Given the description of an element on the screen output the (x, y) to click on. 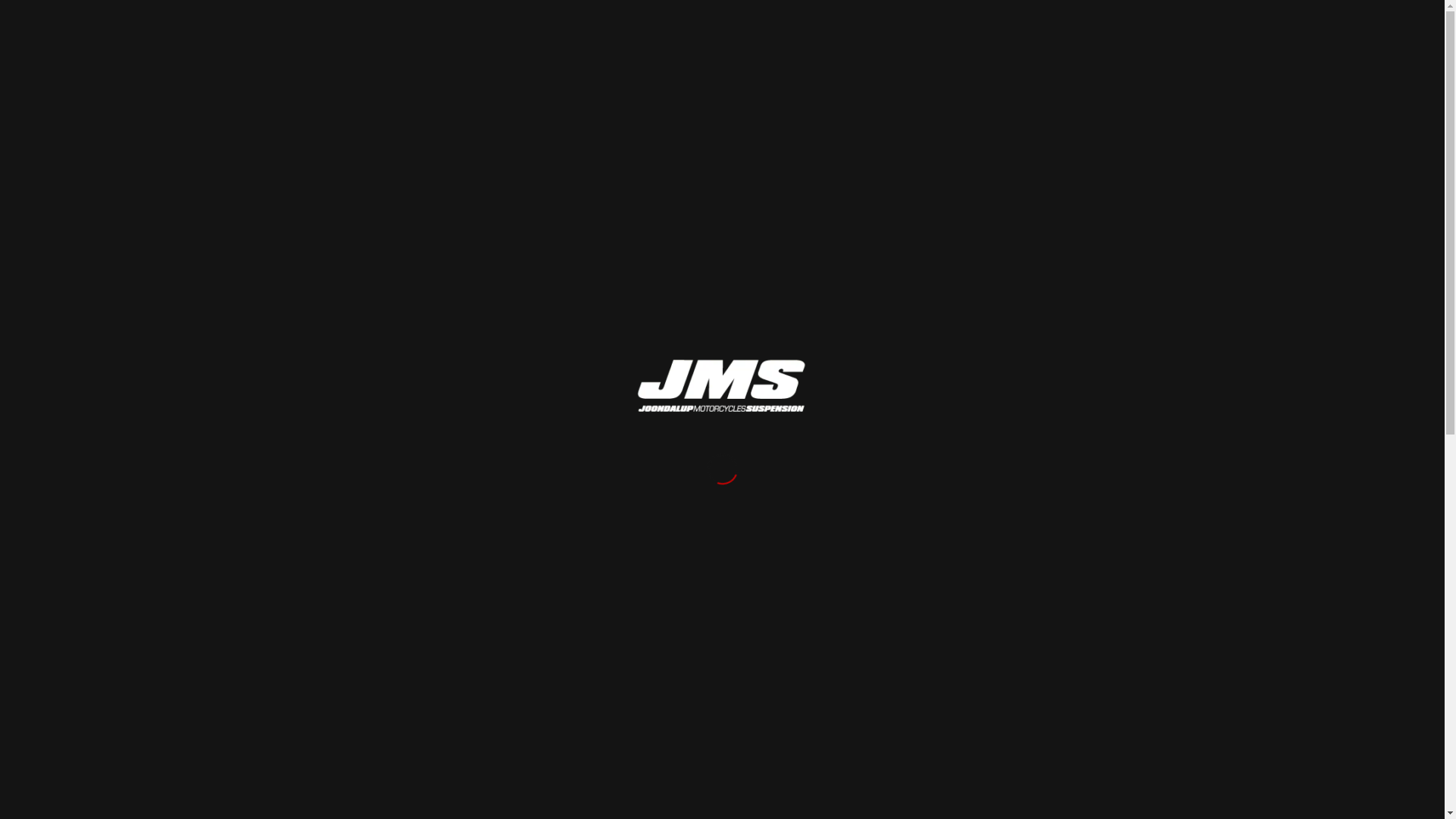
The Proteges United Element type: text (1050, 158)
Read: The Proteges United Element type: hover (985, 166)
Instagram Element type: hover (1169, 43)
HOME Element type: text (746, 44)
CONTACT Element type: text (1089, 44)
Read: MX or Enduro: Finding the Ultimate Setup Element type: hover (985, 205)
New customer contact hours ! Element type: hover (1005, 537)
MX or Enduro: Finding the Ultimate Setup Element type: text (1081, 206)
ABOUT Element type: text (883, 44)
Suspension is EVERYTHING! 2 Stoke Tuning Element type: text (1085, 261)
Instagram Image Element type: hover (1147, 392)
Follow Us! Element type: text (1076, 585)
Motology Films Element type: text (400, 445)
SERVICES Element type: text (952, 44)
JMS-alternative Element type: hover (360, 44)
Loading Element type: hover (721, 386)
Learning from the master ! #JMS Element type: hover (1076, 393)
UPDATES Element type: text (815, 44)
GALLERY Element type: text (1021, 44)
Read: Suspension is EVERYTHING! 2 Stoke Tuning Element type: hover (985, 261)
Making the most of it before we all go into lock down . Element type: hover (1005, 392)
2stroketuning Element type: hover (579, 299)
Facebook Element type: hover (1146, 43)
